Given the description of an element on the screen output the (x, y) to click on. 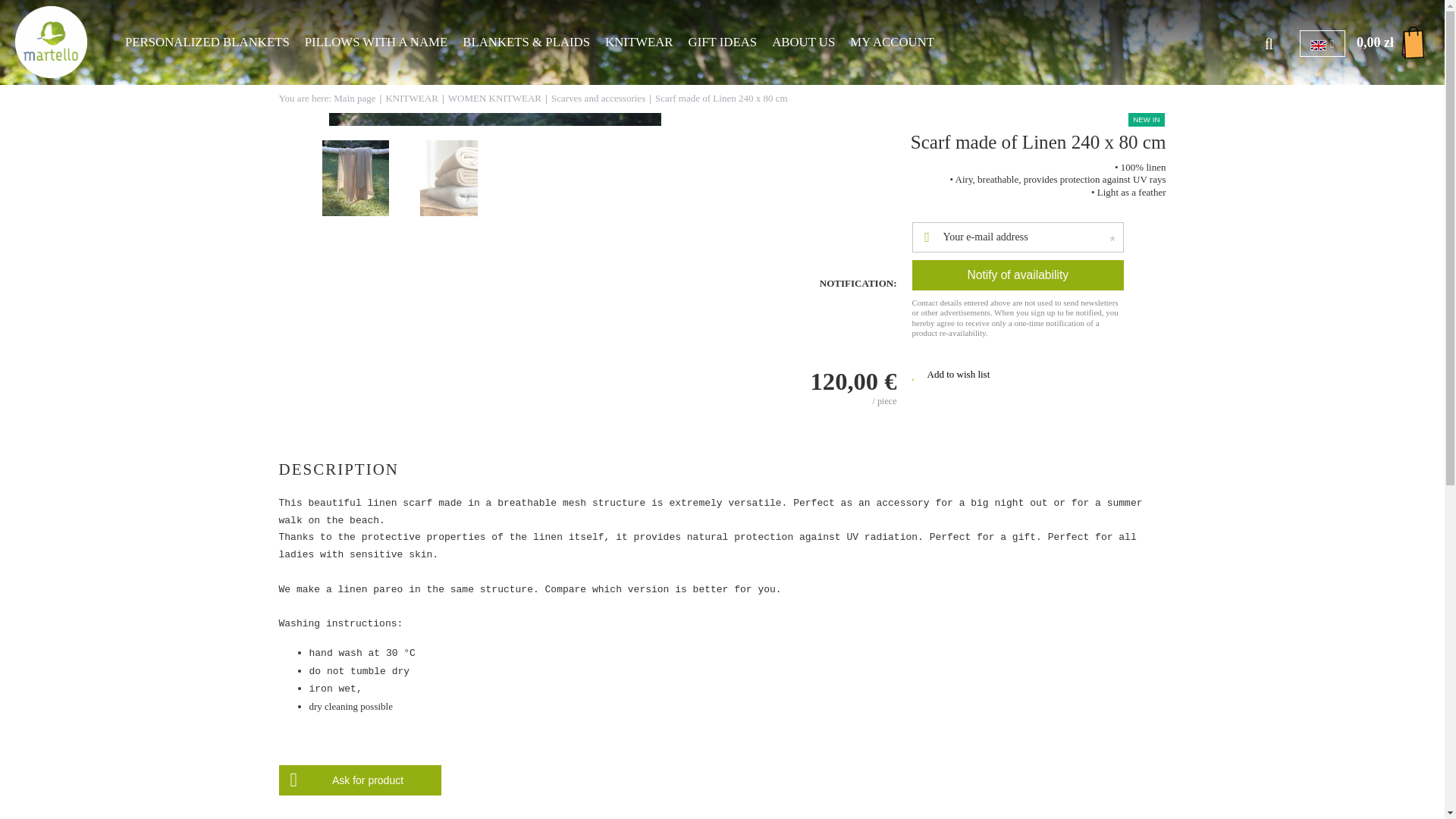
PILLOWS WITH A NAME (375, 42)
GIFT IDEAS (723, 42)
MY ACCOUNT (892, 42)
KNITWEAR (637, 42)
PILLOWS WITH A NAME (375, 42)
ABOUT US (803, 42)
PERSONALIZED BLANKETS (207, 42)
KNITWEAR (637, 42)
PERSONALIZED BLANKETS (207, 42)
